Given the description of an element on the screen output the (x, y) to click on. 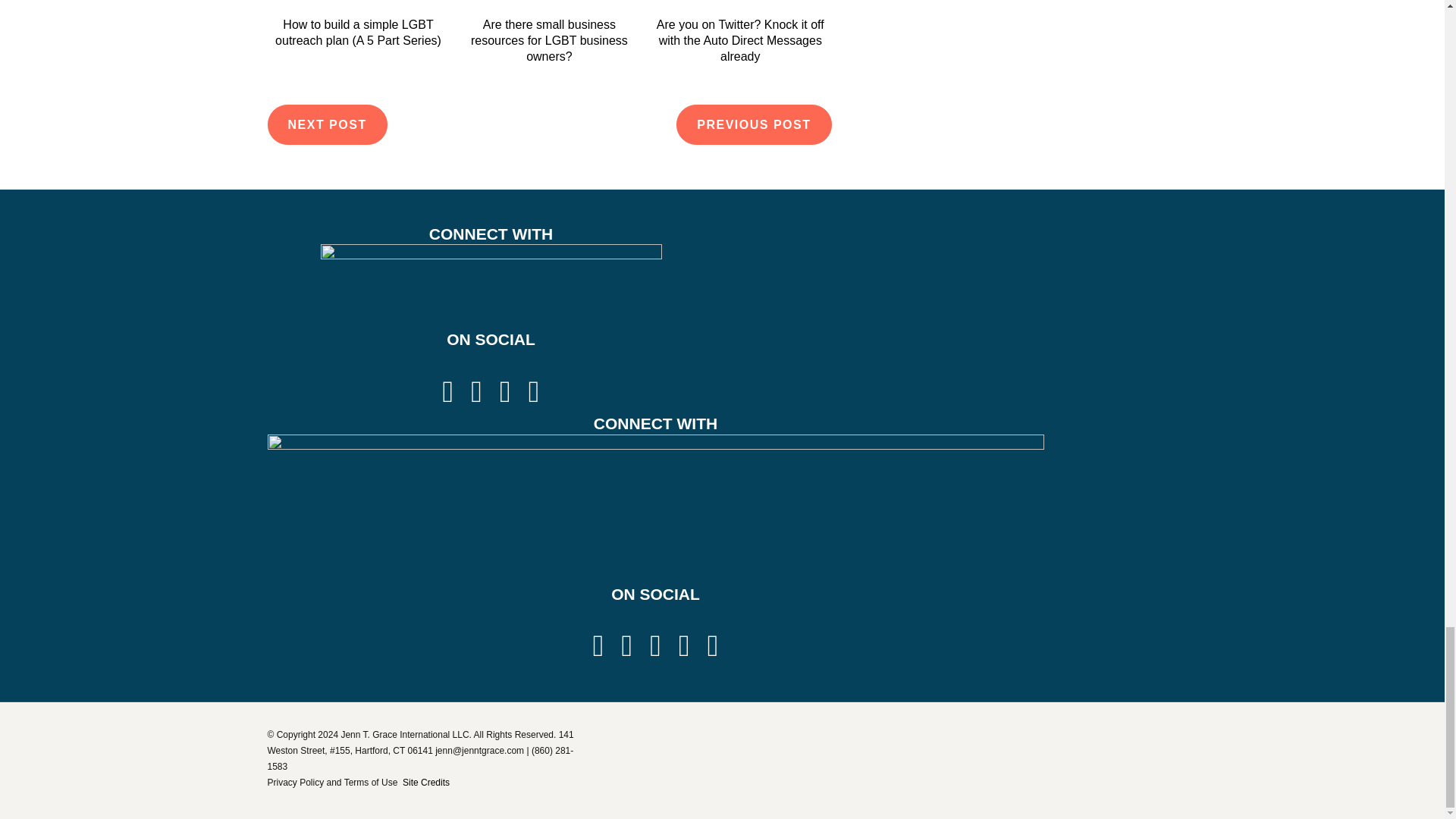
Are there small business resources for LGBT business owners? (548, 40)
